Given the description of an element on the screen output the (x, y) to click on. 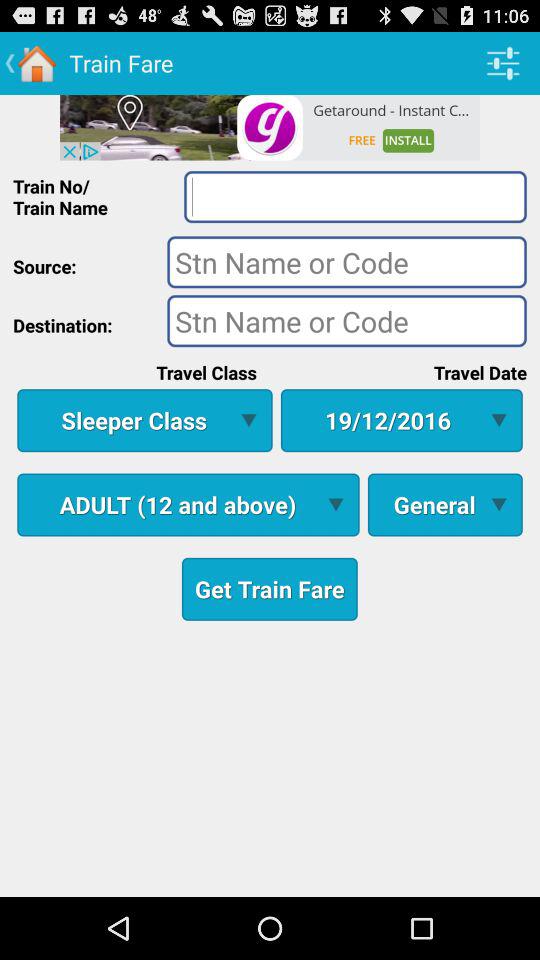
set destination (346, 320)
